Given the description of an element on the screen output the (x, y) to click on. 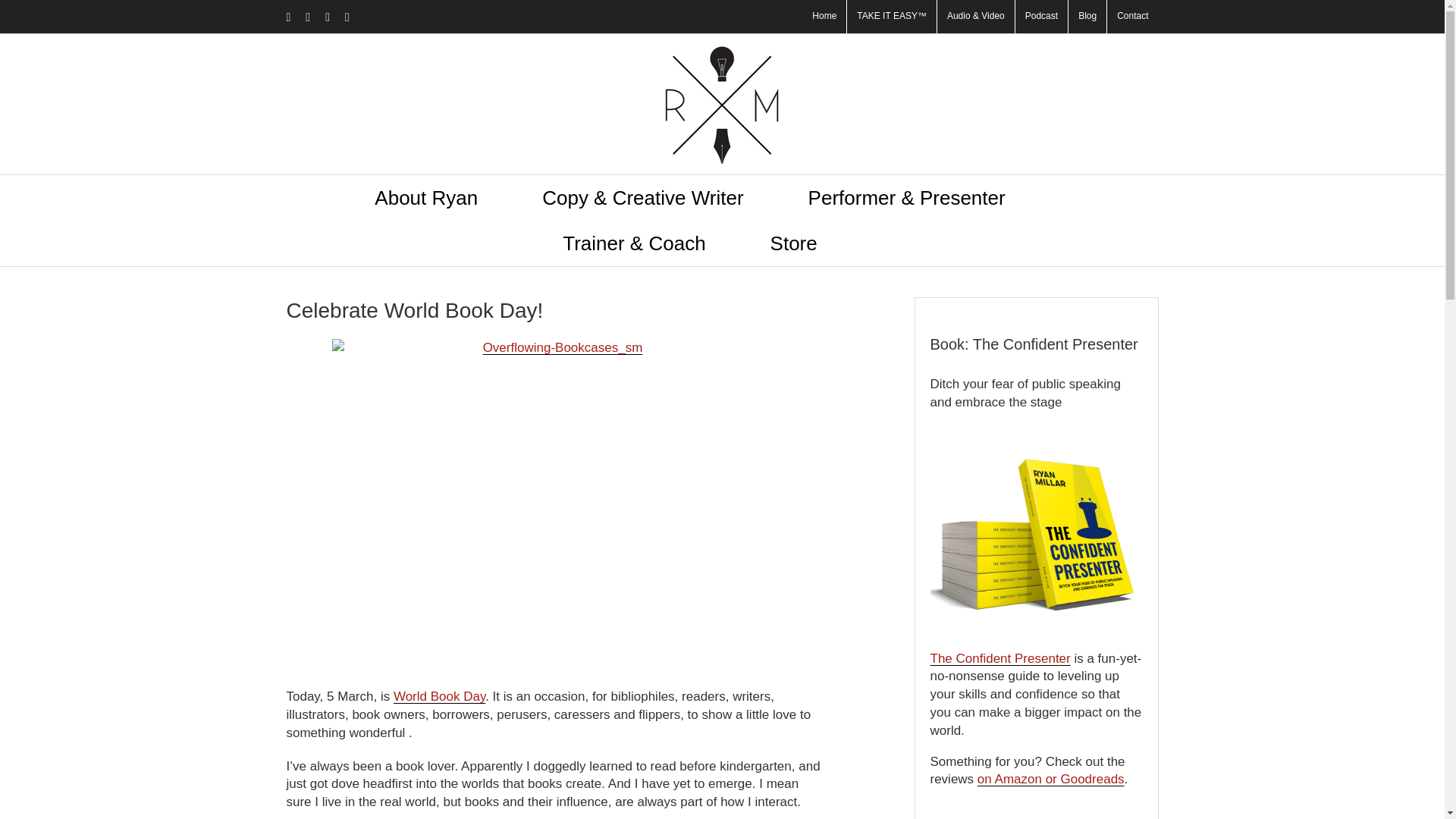
About Ryan (425, 197)
Podcast (1040, 16)
The Confident Presenter (1000, 658)
Store (793, 243)
World Book Day (438, 696)
Home (823, 16)
Contact (1131, 16)
Blog (1087, 16)
on Amazon or Goodreads (1050, 779)
